Given the description of an element on the screen output the (x, y) to click on. 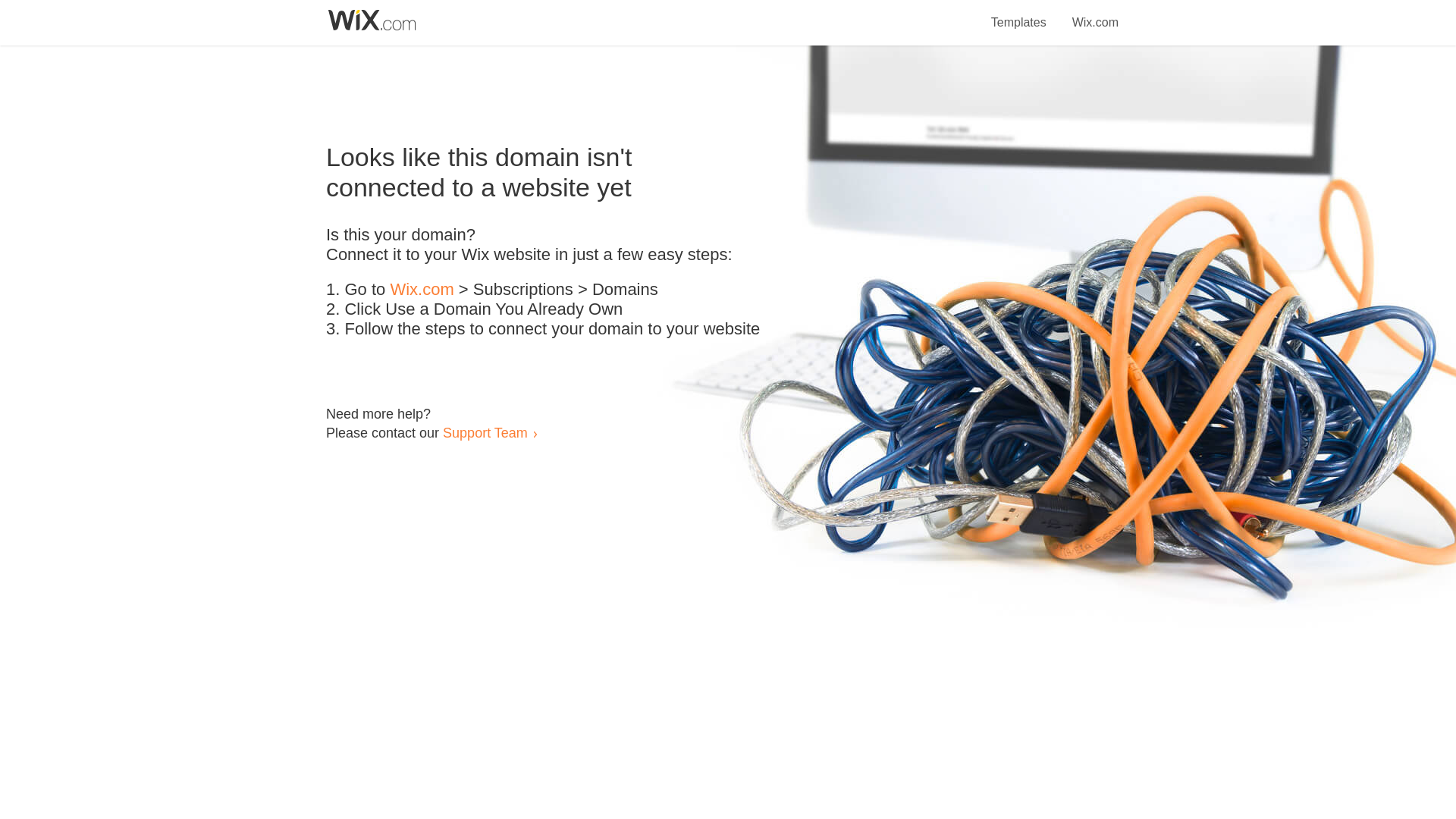
Wix.com (1095, 14)
Wix.com (421, 289)
Support Team (484, 432)
Templates (1018, 14)
